Given the description of an element on the screen output the (x, y) to click on. 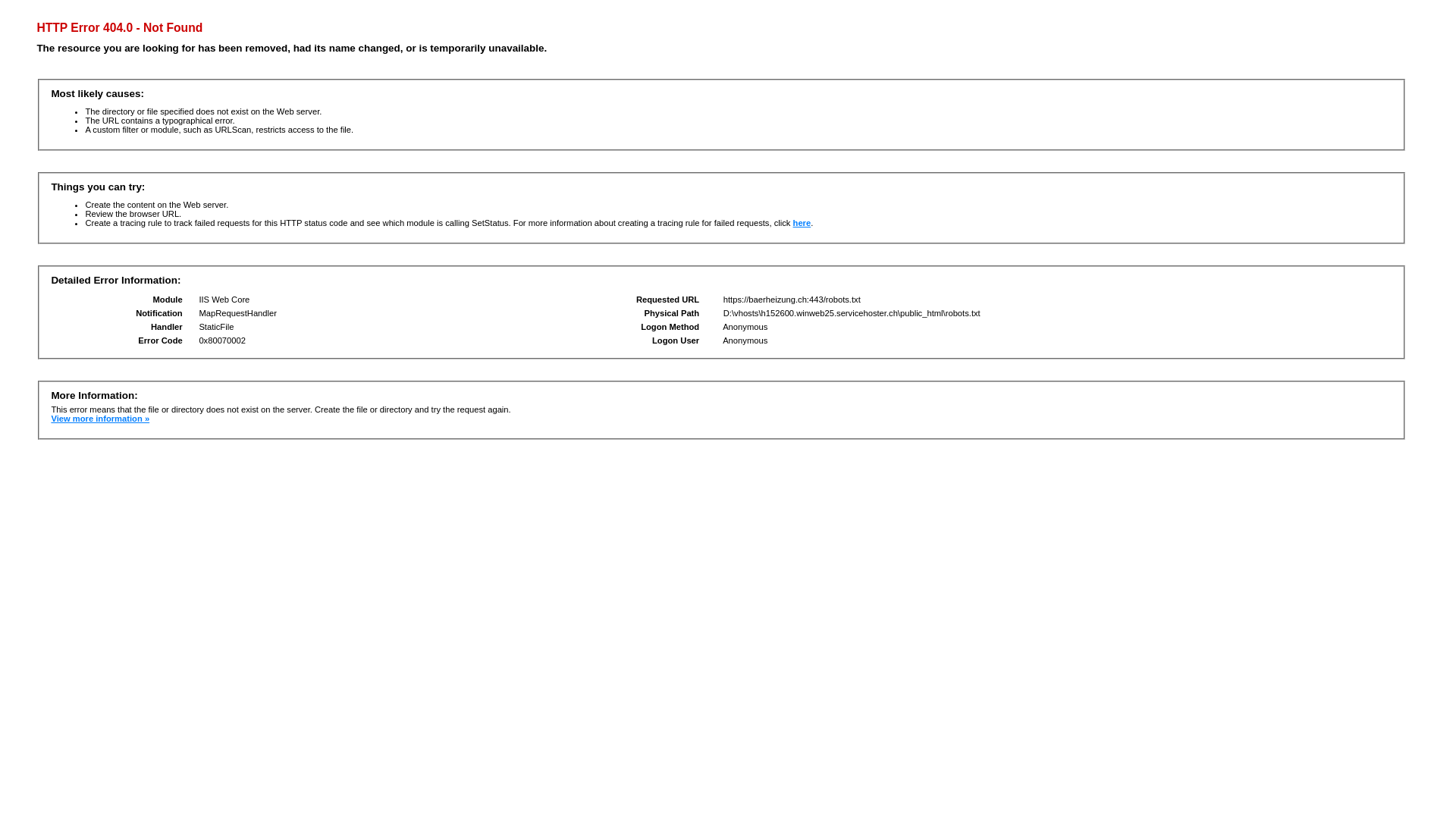
here Element type: text (802, 222)
